Given the description of an element on the screen output the (x, y) to click on. 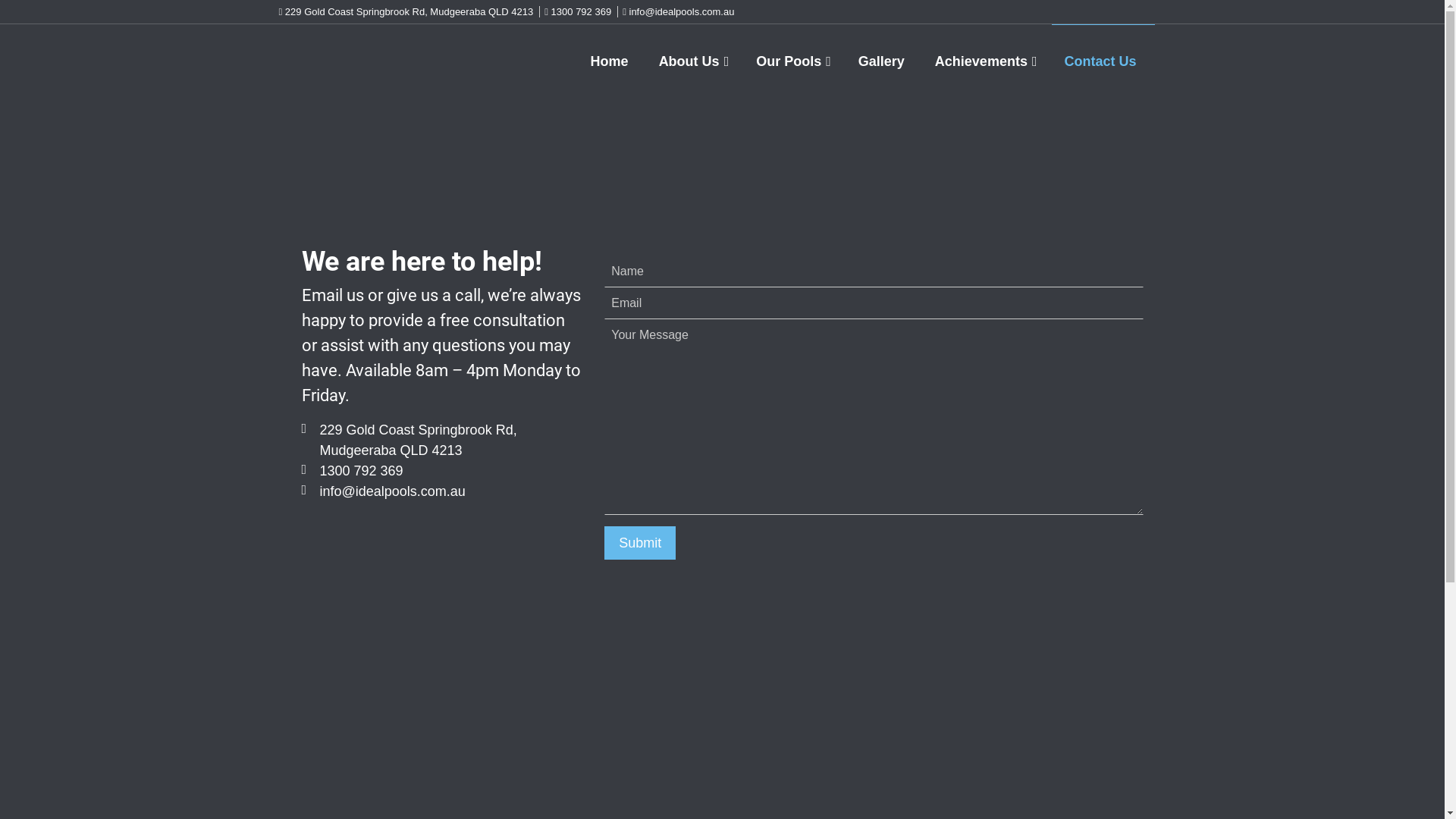
1300 792 369 Element type: text (441, 471)
229 Gold Coast Springbrook Rd, Mudgeeraba QLD 4213 Element type: text (406, 11)
229 Gold Coast Springbrook Rd, Mudgeeraba QLD 4213 Element type: text (441, 440)
Submit Element type: text (639, 542)
1300 792 369 Element type: text (577, 11)
info@idealpools.com.au Element type: text (678, 11)
About Us Element type: text (695, 61)
Gallery Element type: text (884, 61)
Our Pools Element type: text (794, 61)
Achievements Element type: text (987, 61)
Contact Us Element type: text (1102, 61)
Home Element type: text (612, 61)
info@idealpools.com.au Element type: text (441, 491)
